Given the description of an element on the screen output the (x, y) to click on. 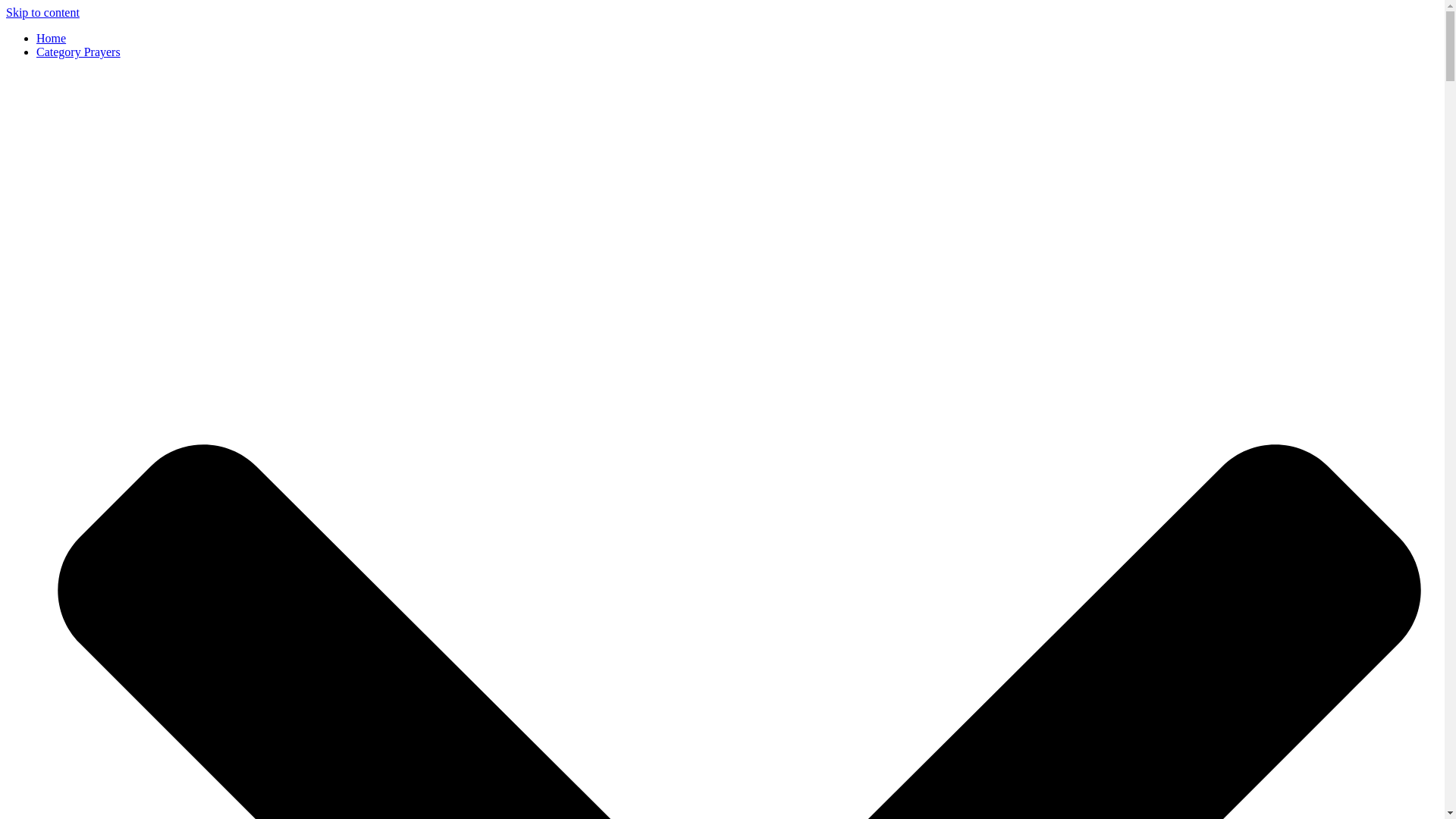
Category Prayers (78, 51)
Home (50, 38)
Skip to content (42, 11)
